Given the description of an element on the screen output the (x, y) to click on. 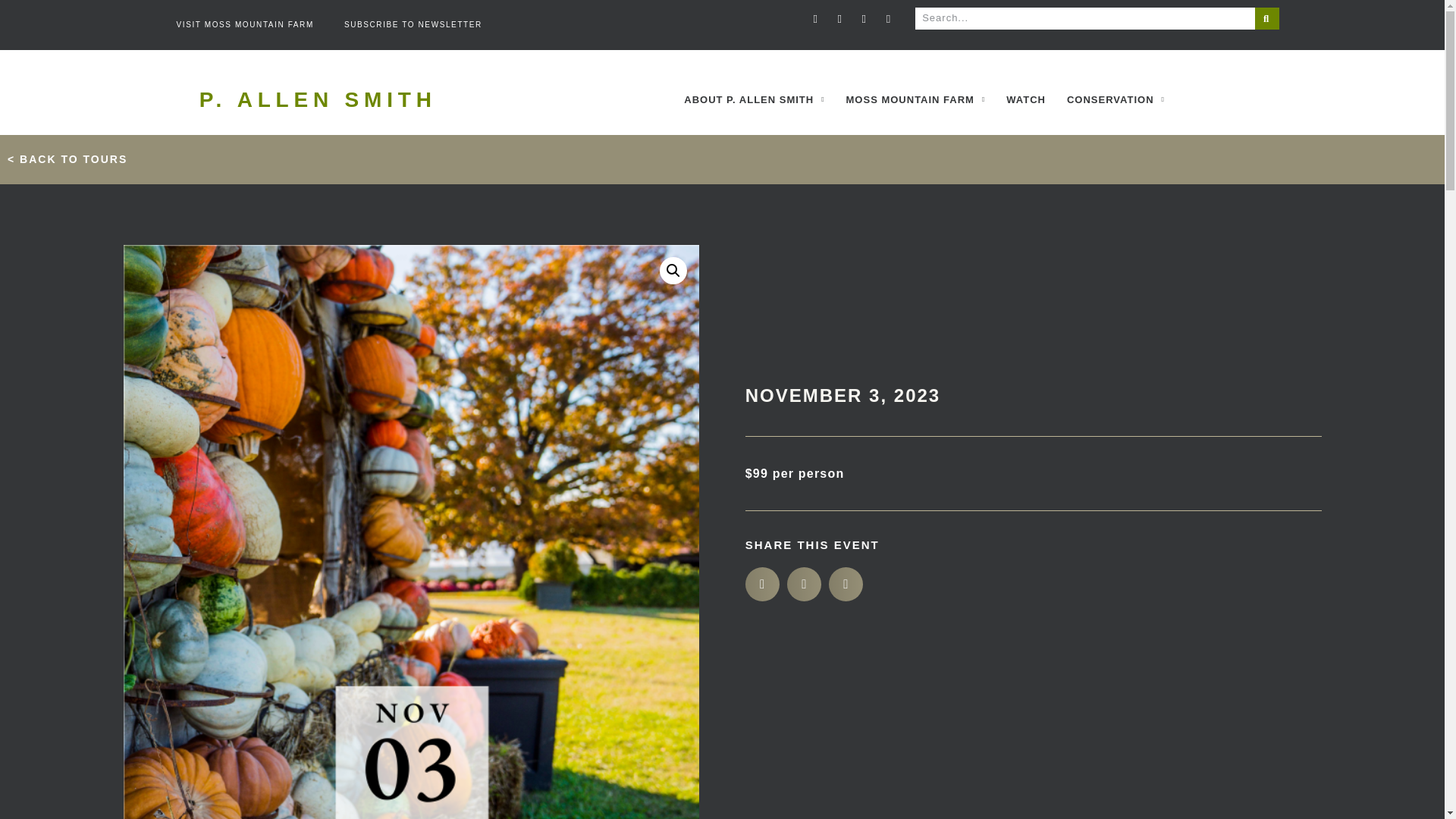
CONSERVATION (1115, 99)
SUBSCRIBE TO NEWSLETTER (413, 24)
MOSS MOUNTAIN FARM (915, 99)
P. ALLEN SMITH (317, 99)
ABOUT P. ALLEN SMITH (753, 99)
VISIT MOSS MOUNTAIN FARM (244, 24)
WATCH (1026, 99)
